Given the description of an element on the screen output the (x, y) to click on. 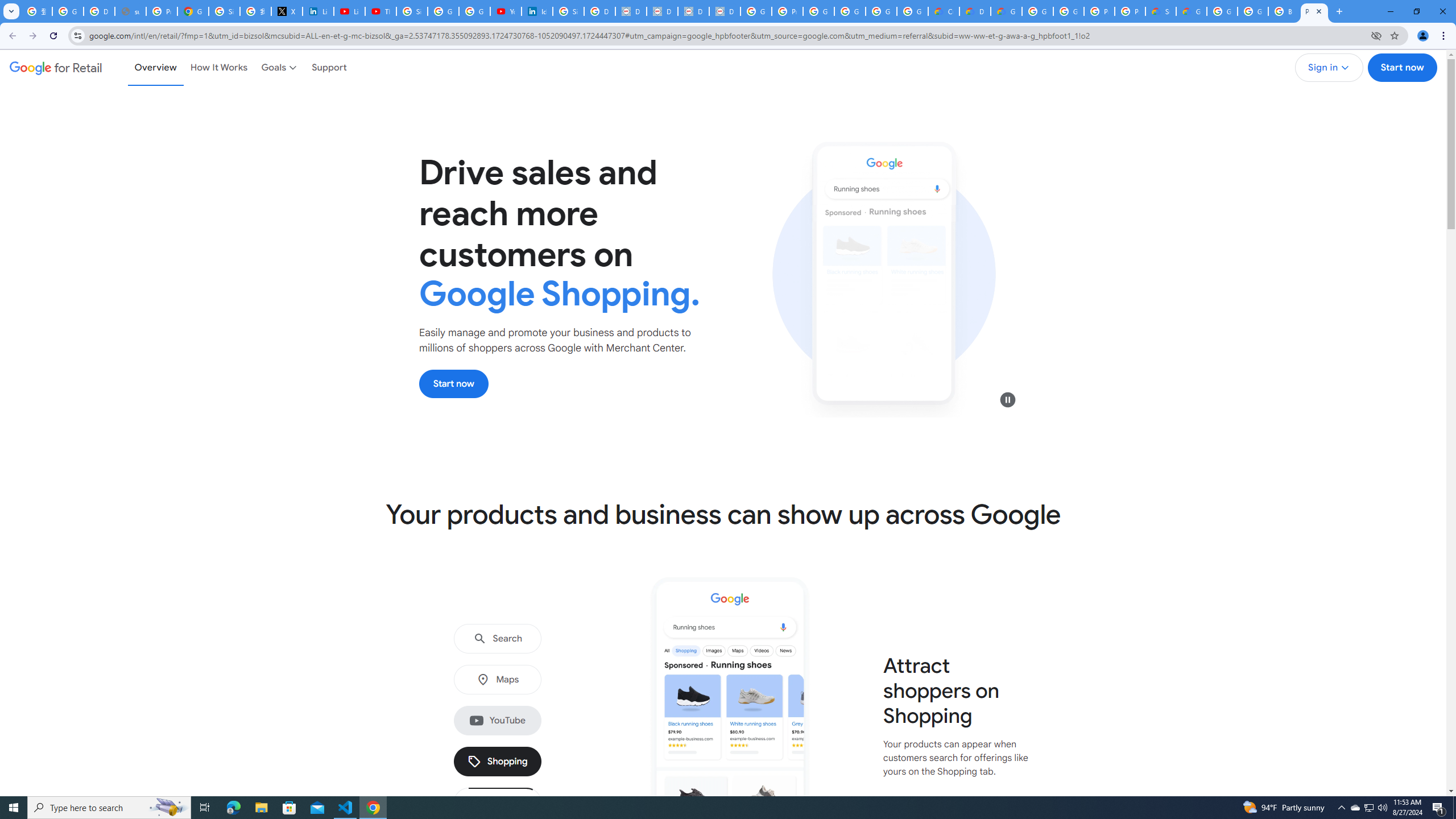
Google Cloud Platform (1252, 11)
support.google.com - Network error (130, 11)
LinkedIn - YouTube (349, 11)
Pause animation (1007, 399)
